Given the description of an element on the screen output the (x, y) to click on. 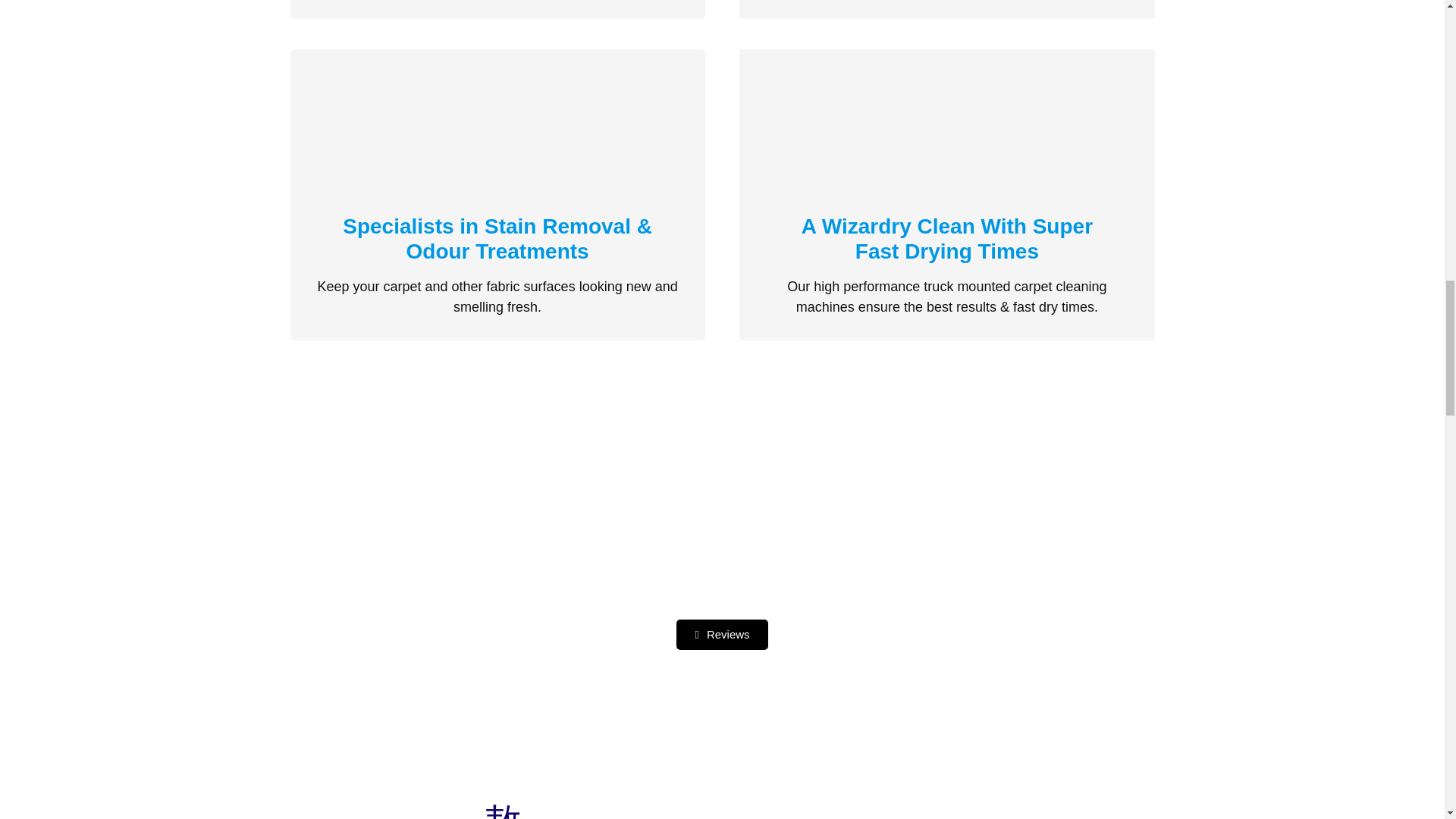
Reviews (947, 238)
